Given the description of an element on the screen output the (x, y) to click on. 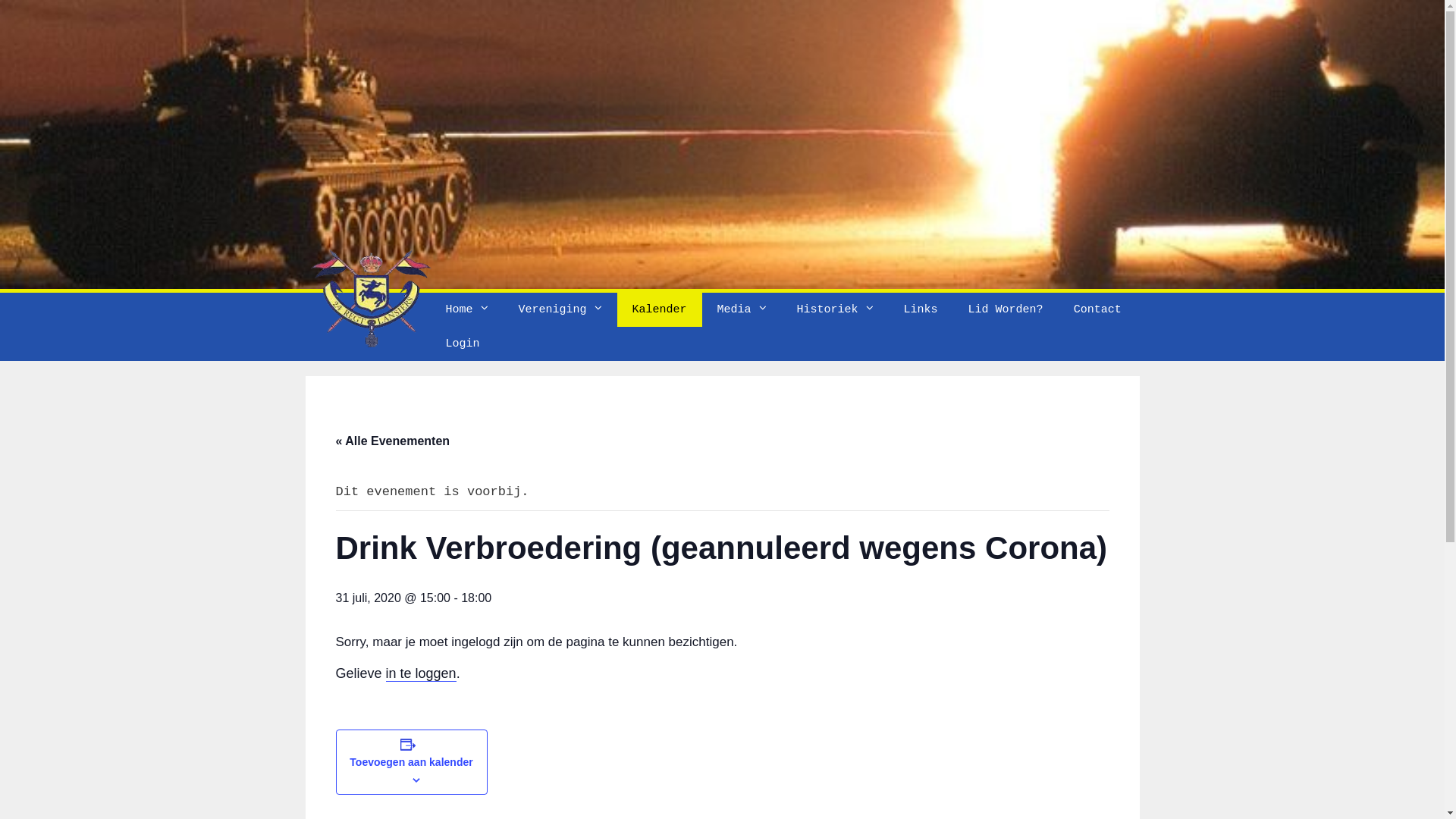
Lid Worden? Element type: text (1005, 309)
Toevoegen aan kalender Element type: text (410, 762)
Links Element type: text (920, 309)
Verbroedering 2/4L Element type: hover (722, 144)
Vereniging Element type: text (560, 309)
Home Element type: text (466, 309)
Media Element type: text (741, 309)
Contact Element type: text (1097, 309)
in te loggen Element type: text (420, 673)
Verbroedering 2/4L Element type: hover (722, 144)
Login Element type: text (462, 343)
Historiek Element type: text (834, 309)
Kalender Element type: text (659, 309)
